Given the description of an element on the screen output the (x, y) to click on. 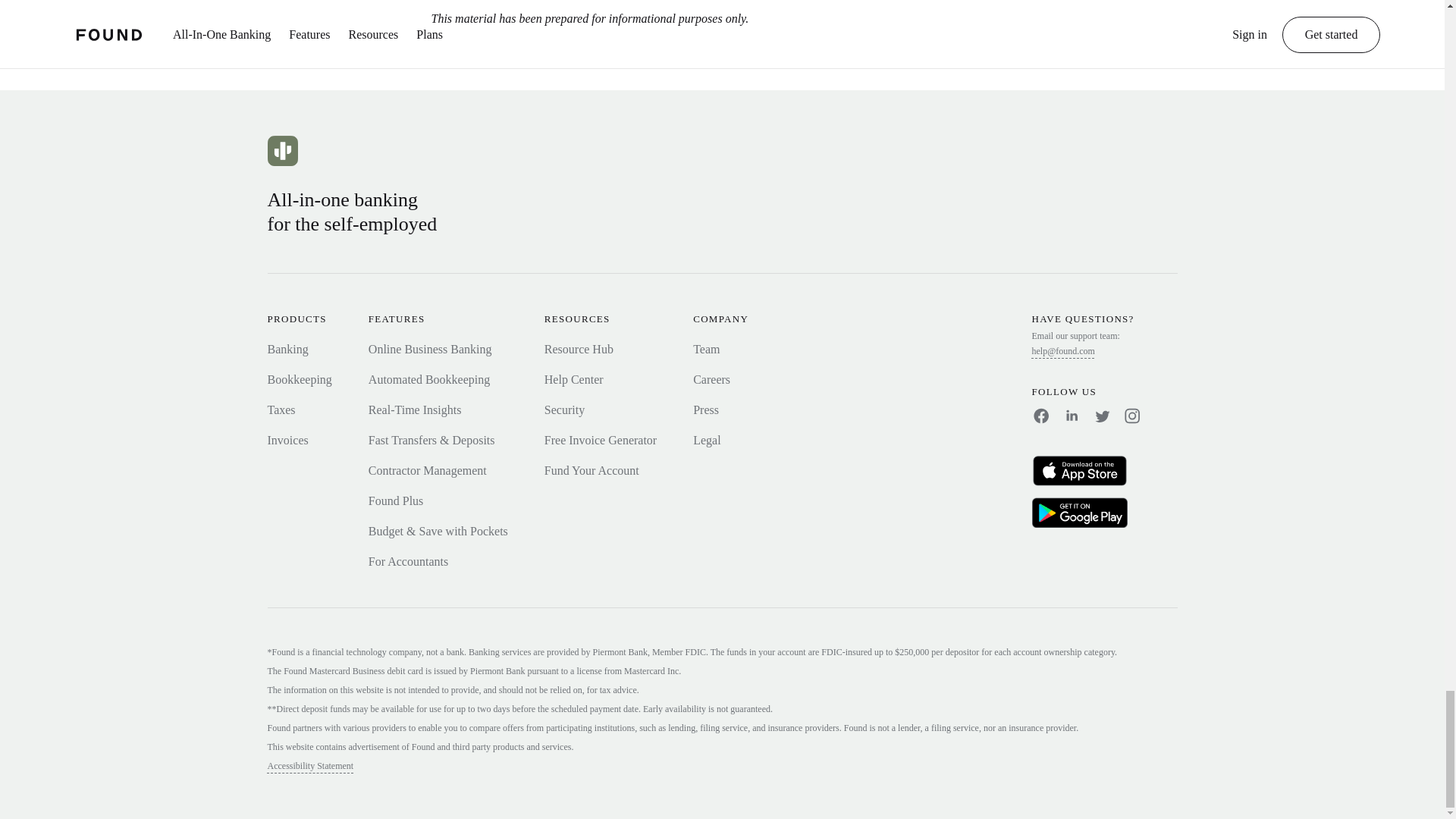
Invoices (286, 440)
Fund Your Account (591, 470)
Real-Time Insights (414, 409)
Team (706, 349)
Help Center (574, 379)
Banking (286, 349)
Free Invoice Generator (600, 440)
Online Business Banking (430, 349)
Automated Bookkeeping (428, 379)
Resource Hub (578, 349)
